Given the description of an element on the screen output the (x, y) to click on. 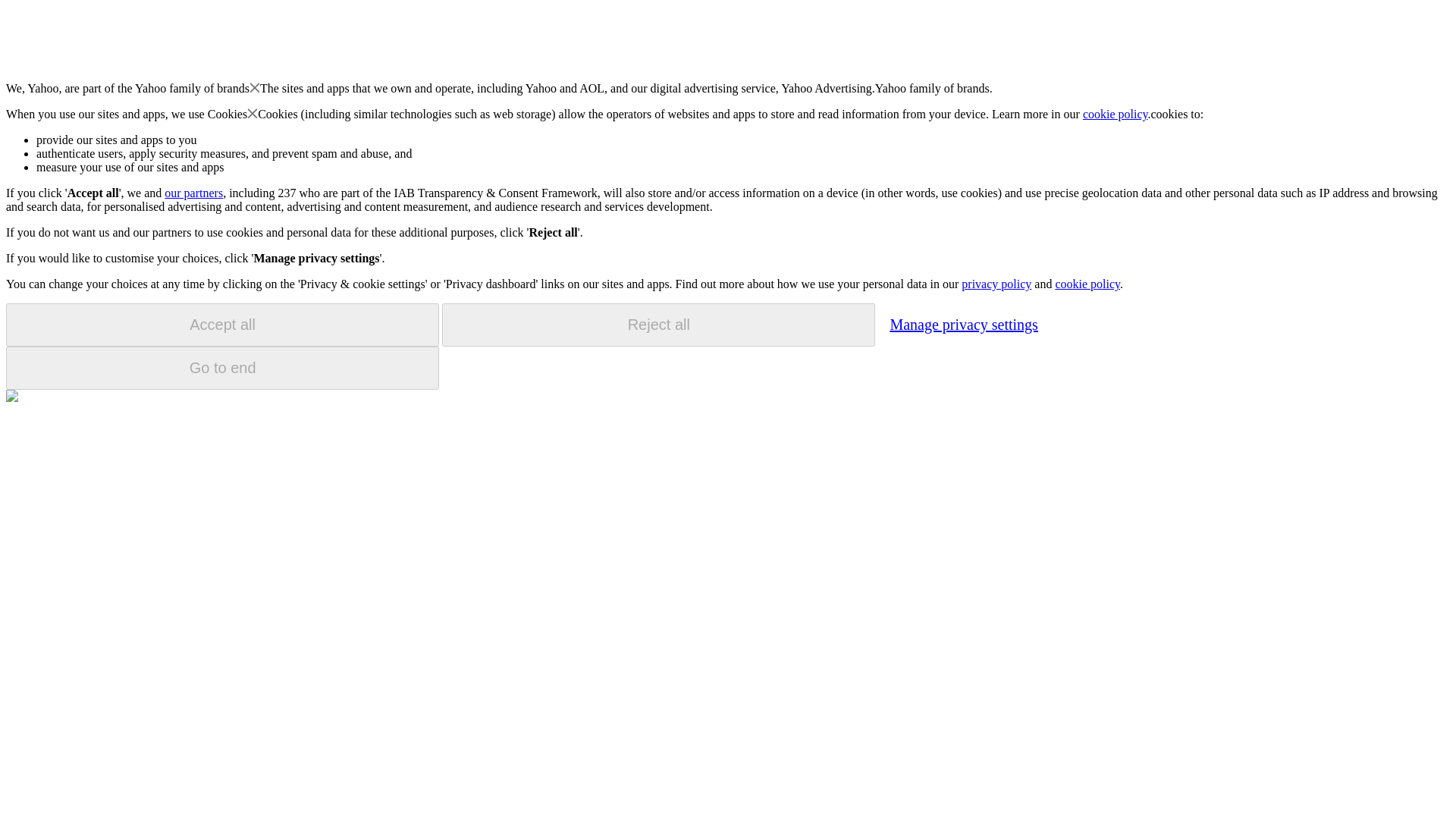
Reject all (658, 324)
Accept all (222, 324)
privacy policy (995, 283)
cookie policy (1115, 113)
our partners (193, 192)
Manage privacy settings (963, 323)
Go to end (222, 367)
cookie policy (1086, 283)
